Given the description of an element on the screen output the (x, y) to click on. 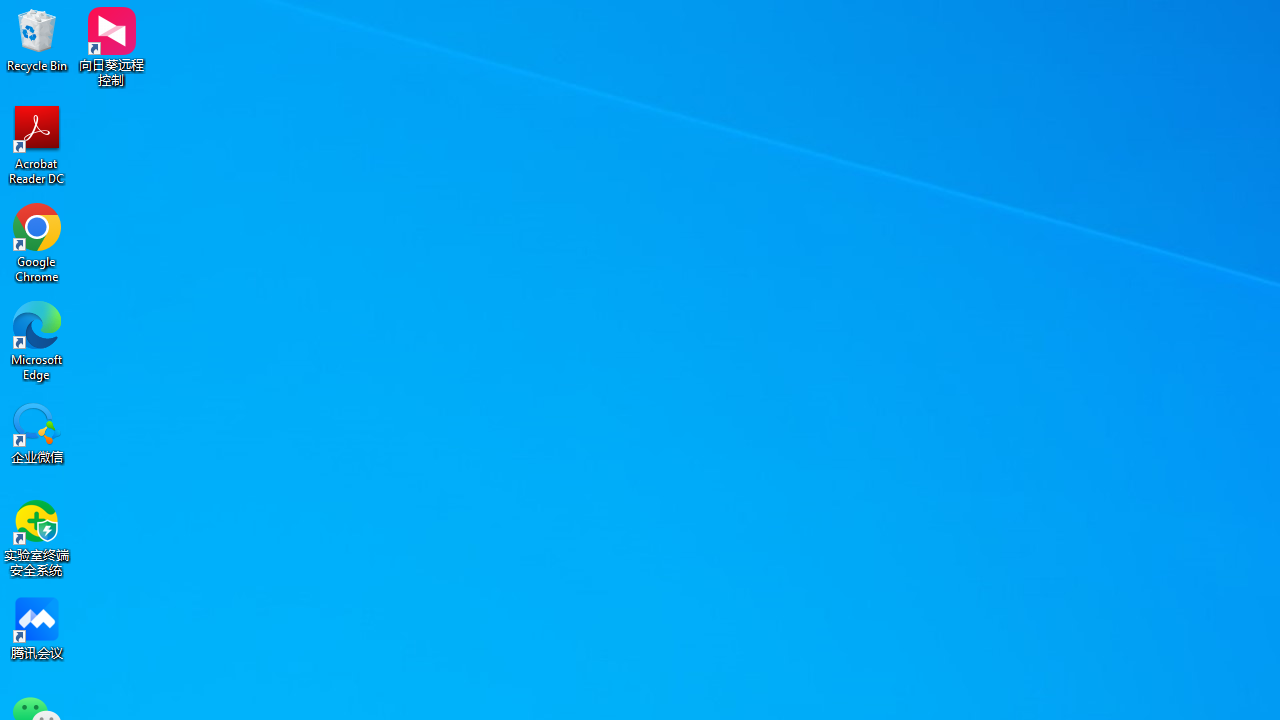
Office Clipboard... (156, 151)
Shape Fill Orange, Accent 2 (1188, 78)
